Given the description of an element on the screen output the (x, y) to click on. 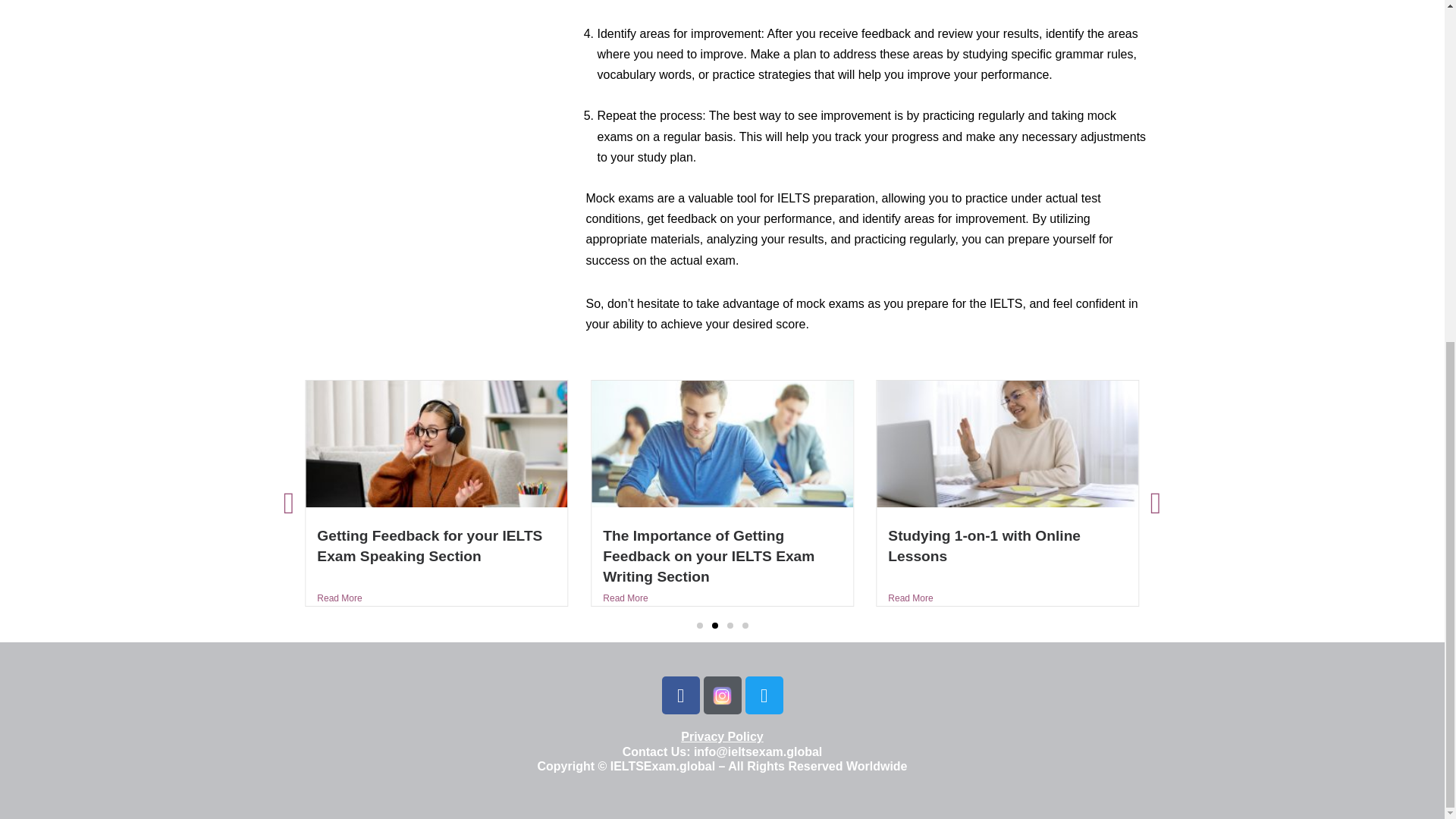
Getting Feedback for your IELTS Exam Speaking Section (429, 545)
Studying 1-on-1 with Online Lessons (984, 545)
